Given the description of an element on the screen output the (x, y) to click on. 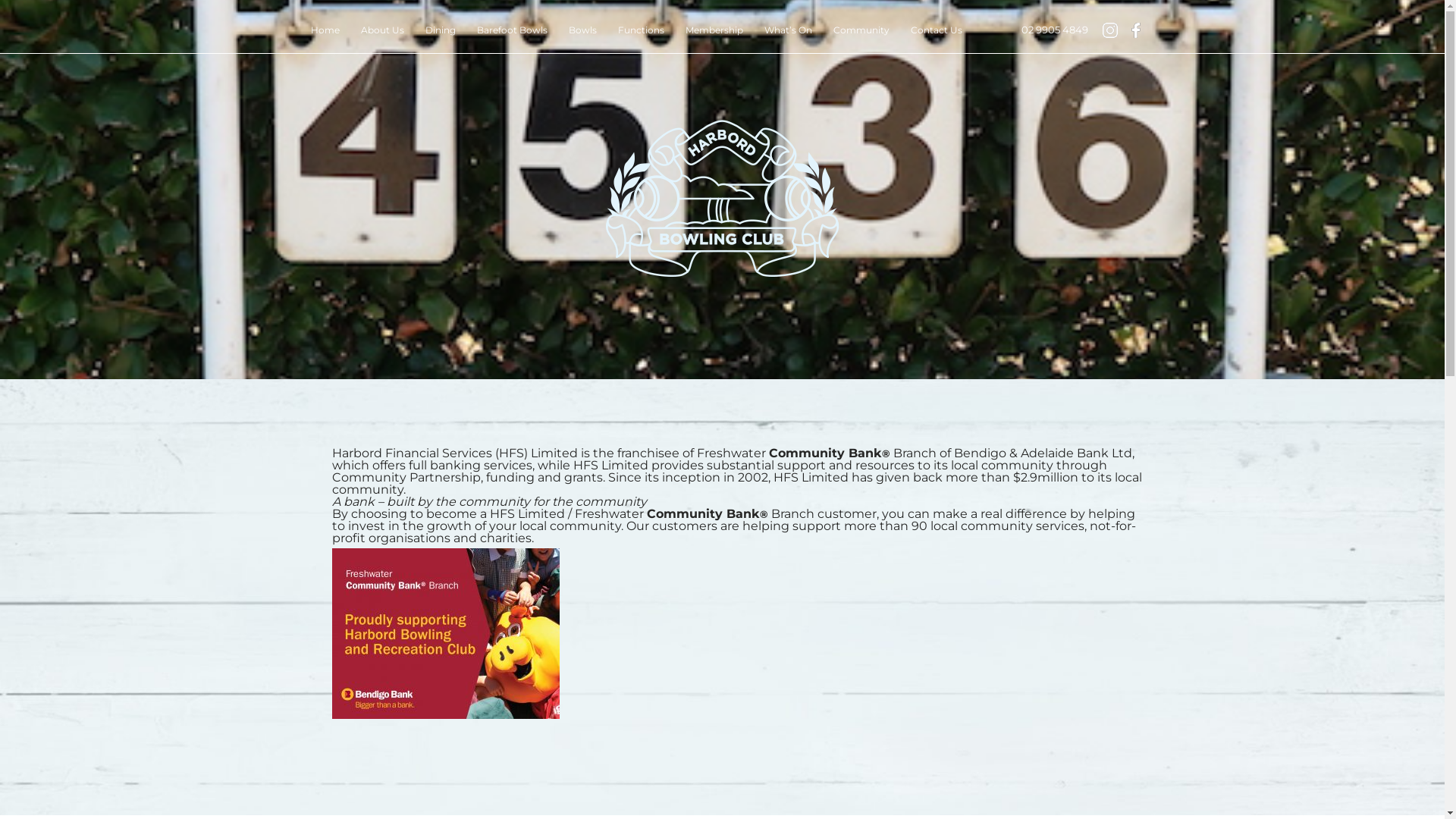
Barefoot Bowls Element type: text (511, 29)
Community Element type: text (860, 29)
Home Element type: text (324, 29)
Dining Element type: text (439, 29)
Bowls Element type: text (582, 29)
About Us Element type: text (382, 29)
Membership Element type: text (714, 29)
02 9905 4849 Element type: text (1053, 29)
Contact Us Element type: text (935, 29)
Functions Element type: text (640, 29)
